Given the description of an element on the screen output the (x, y) to click on. 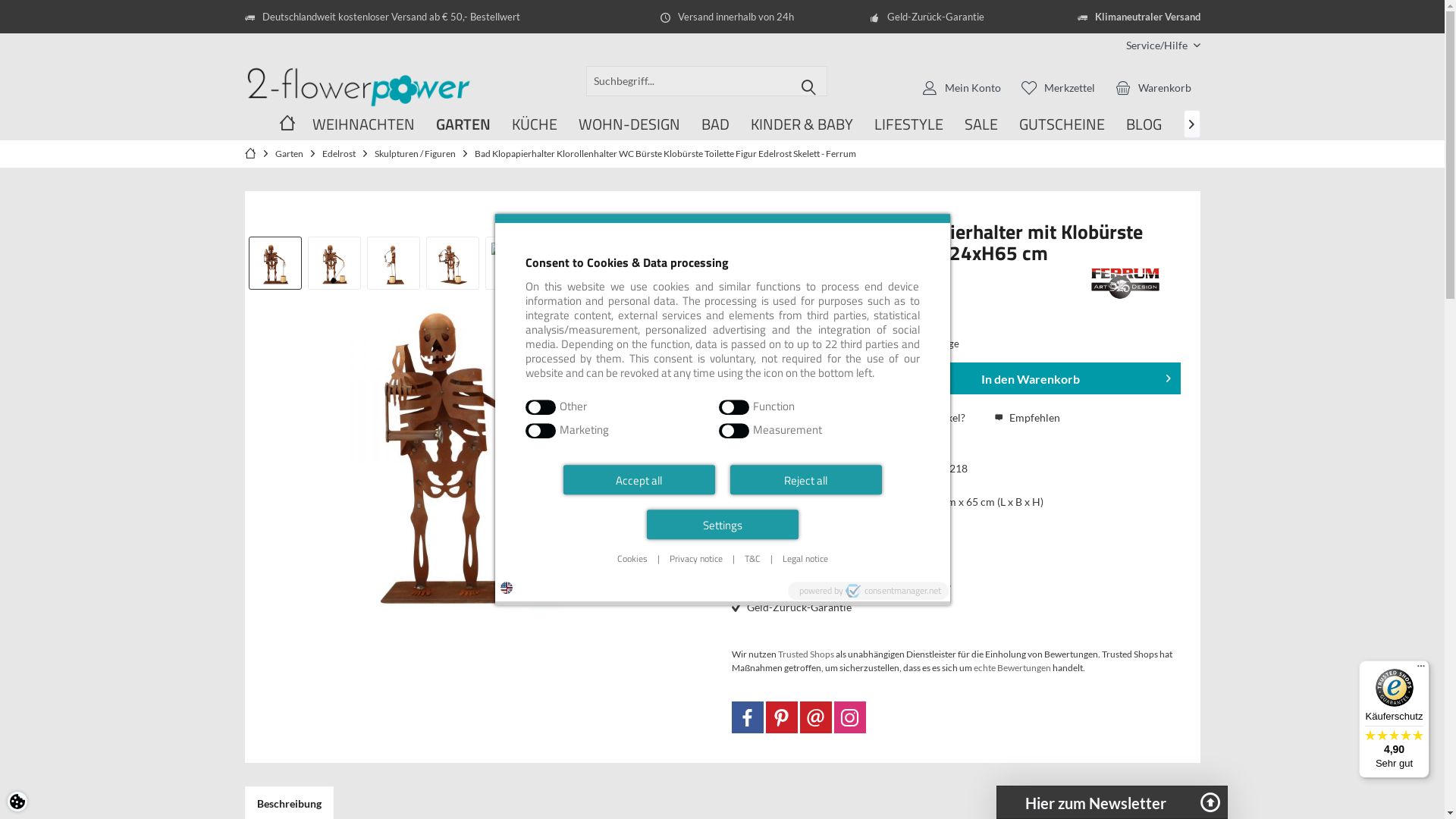
Edelrost Element type: text (338, 153)
Vergleichen Element type: text (767, 418)
GARTEN Element type: text (462, 124)
Legal notice Element type: text (805, 558)
Cookies Element type: text (632, 558)
: Ferrum Skelett als Element type: hover (452, 264)
echte Bewertungen Element type: text (1011, 667)
Garten Element type: text (289, 153)
BAD Element type: text (714, 124)
WEIHNACHTEN Element type: text (363, 124)
Trusted Shops Element type: text (806, 653)
: Ferrum Skelett als Element type: hover (630, 264)
Settings Element type: text (721, 524)
Merkzettel Element type: text (1058, 87)
Warenkorb Element type: text (1153, 87)
Reject all Element type: text (805, 479)
GUTSCHEINE Element type: text (1061, 124)
WOHN-DESIGN Element type: text (628, 124)
Weitere Artikel von Ferrum Element type: hover (1123, 283)
consentmanager.net Element type: text (892, 590)
BLOG Element type: text (1142, 124)
SALE Element type: text (980, 124)
Merken Element type: text (829, 418)
KINDER & BABY Element type: text (801, 124)
: Ferrum Skelett als Element type: hover (571, 264)
In den Warenkorb Element type: text (1038, 378)
Fragen zum Artikel? Element type: text (910, 418)
: Ferrum Skelett als Element type: hover (334, 264)
Language: en Element type: hover (506, 587)
Language: en Element type: hover (506, 587)
: Ferrum Skelett als Element type: hover (393, 264)
Skulpturen / Figuren Element type: text (414, 153)
2-flowerpower - zur Startseite wechseln Element type: hover (357, 86)
Privacy settings Element type: hover (17, 801)
Home Element type: hover (287, 124)
LIFESTYLE Element type: text (907, 124)
zzgl. Versandkosten Element type: text (815, 304)
T&C Element type: text (752, 558)
: Ferrum Skelett als Element type: hover (275, 264)
Empfehlen Element type: text (1027, 418)
Privacy notice Element type: text (695, 558)
Accept all Element type: text (638, 479)
